Given the description of an element on the screen output the (x, y) to click on. 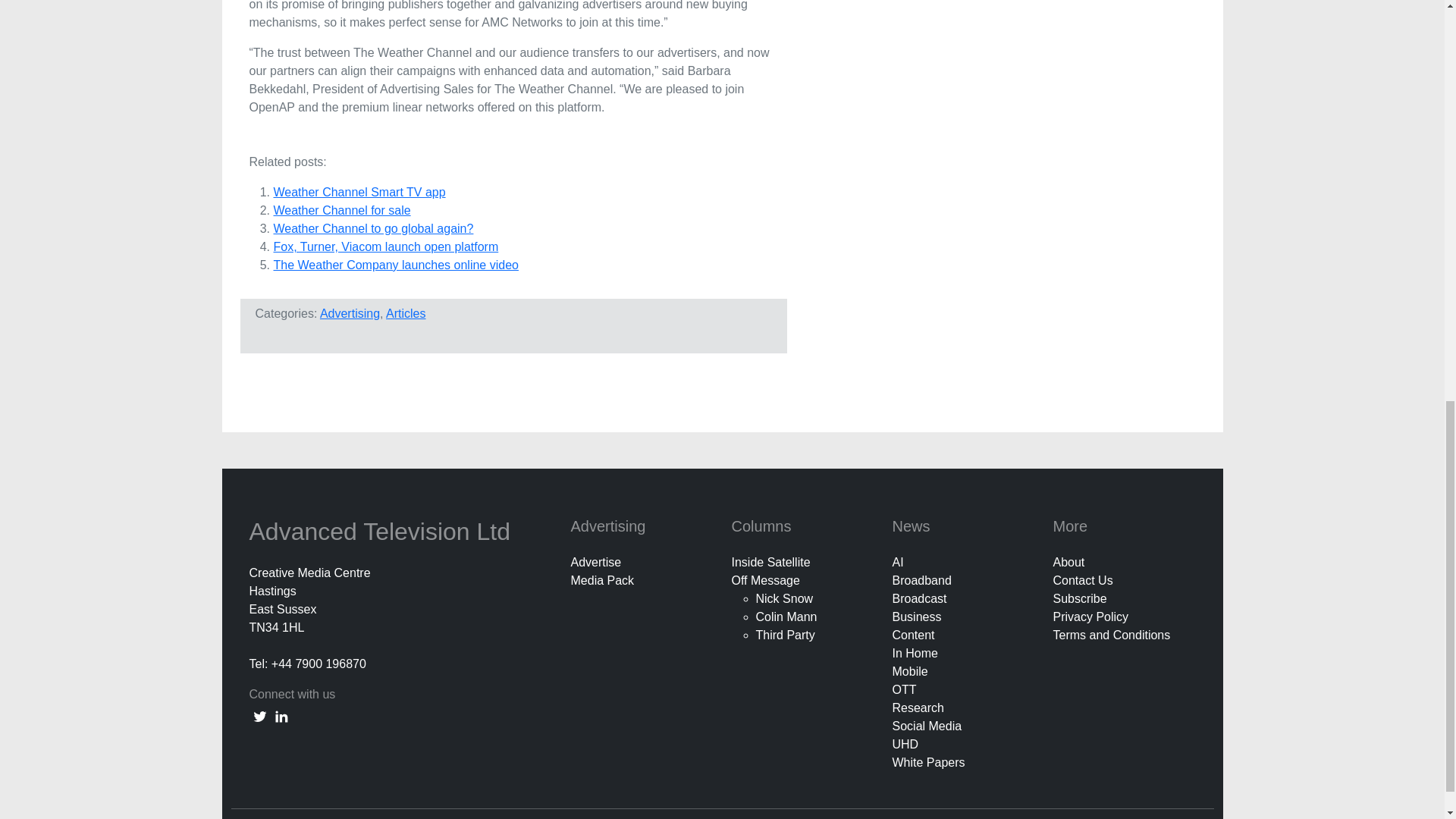
Articles (405, 313)
Weather Channel to go global again? (373, 228)
Advertise (595, 562)
Weather Channel for sale (341, 210)
Media Pack (601, 580)
Weather Channel to go global again? (373, 228)
Weather Channel for sale (341, 210)
Off Message (764, 580)
The Weather Company launches online video (395, 264)
The Weather Company launches online video (395, 264)
